Given the description of an element on the screen output the (x, y) to click on. 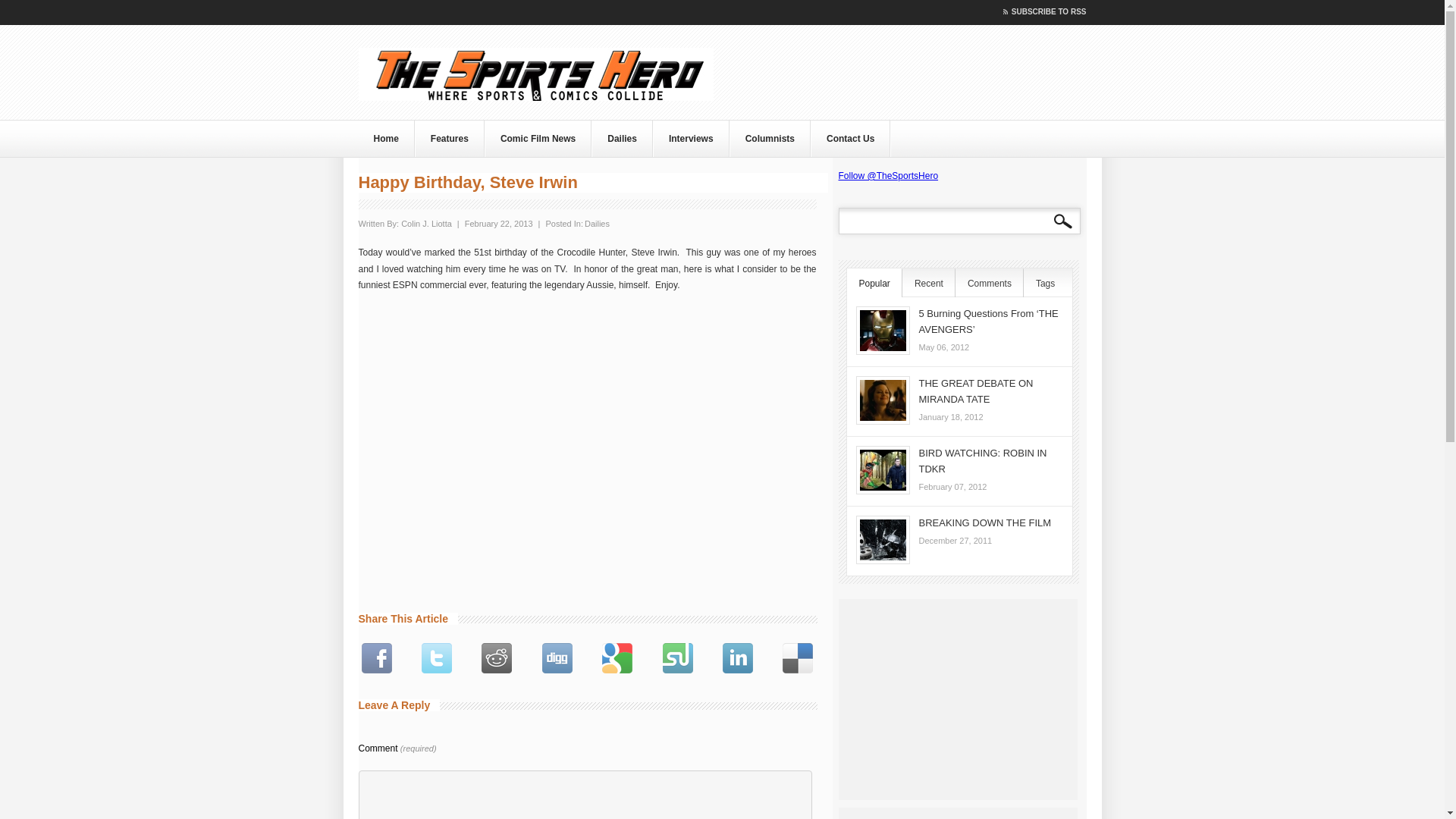
Dailies (622, 138)
Tags (1043, 283)
Features (449, 138)
Recent (928, 283)
Dailies (597, 223)
Comments (989, 283)
Colin J. Liotta (426, 223)
Interviews (691, 138)
Comic Film News (537, 138)
Contact Us (849, 138)
Home (385, 138)
Posts by Colin J. Liotta (426, 223)
Columnists (770, 138)
Popular (873, 283)
SUBSCRIBE TO RSS (1040, 11)
